Given the description of an element on the screen output the (x, y) to click on. 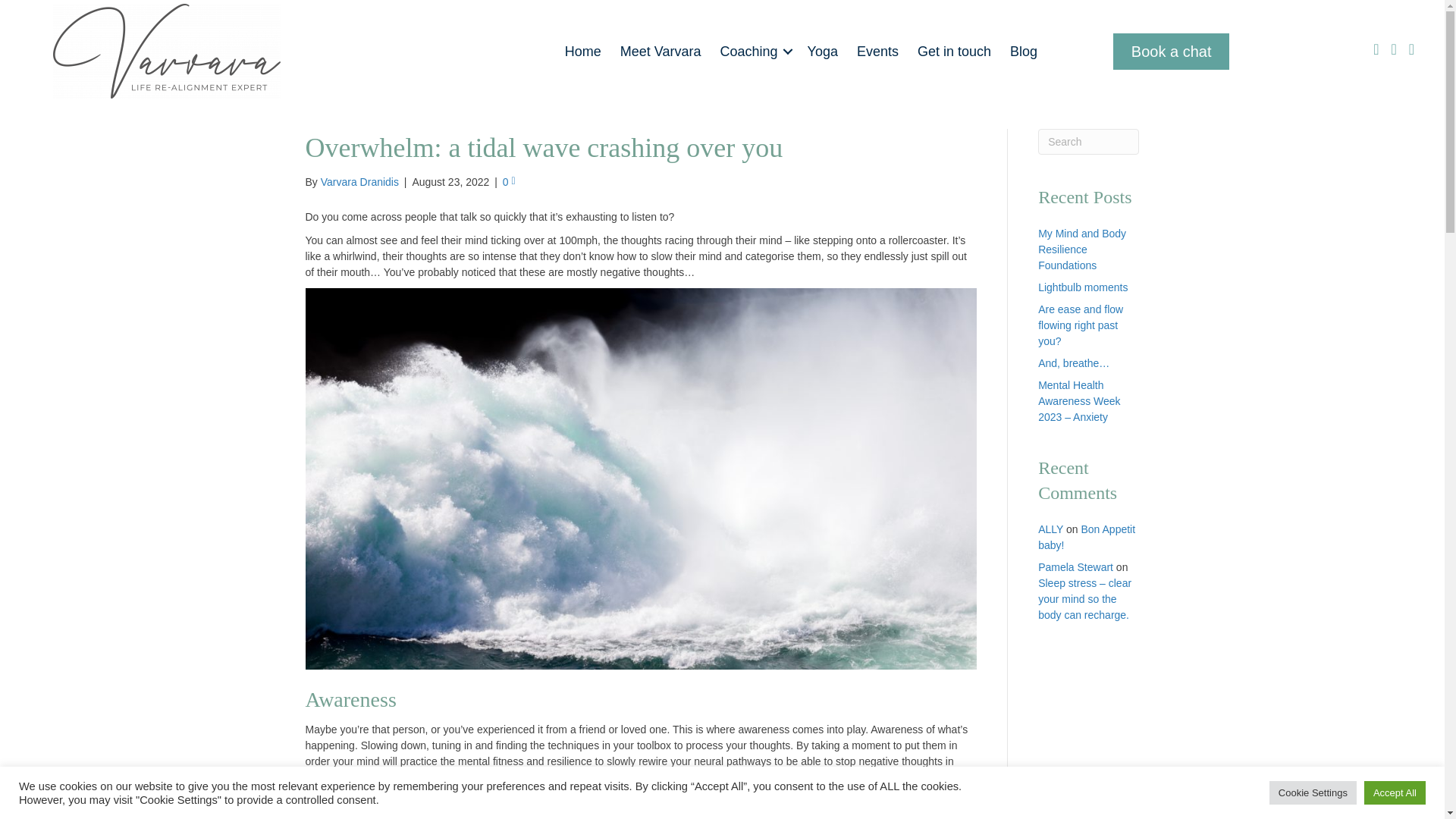
Type and press Enter to search. (1088, 141)
Coaching (754, 50)
Get in touch (954, 50)
Events (877, 50)
Home (583, 50)
Blog (1023, 50)
Yoga (822, 50)
Meet Varvara (660, 50)
Book a chat (1171, 51)
